Given the description of an element on the screen output the (x, y) to click on. 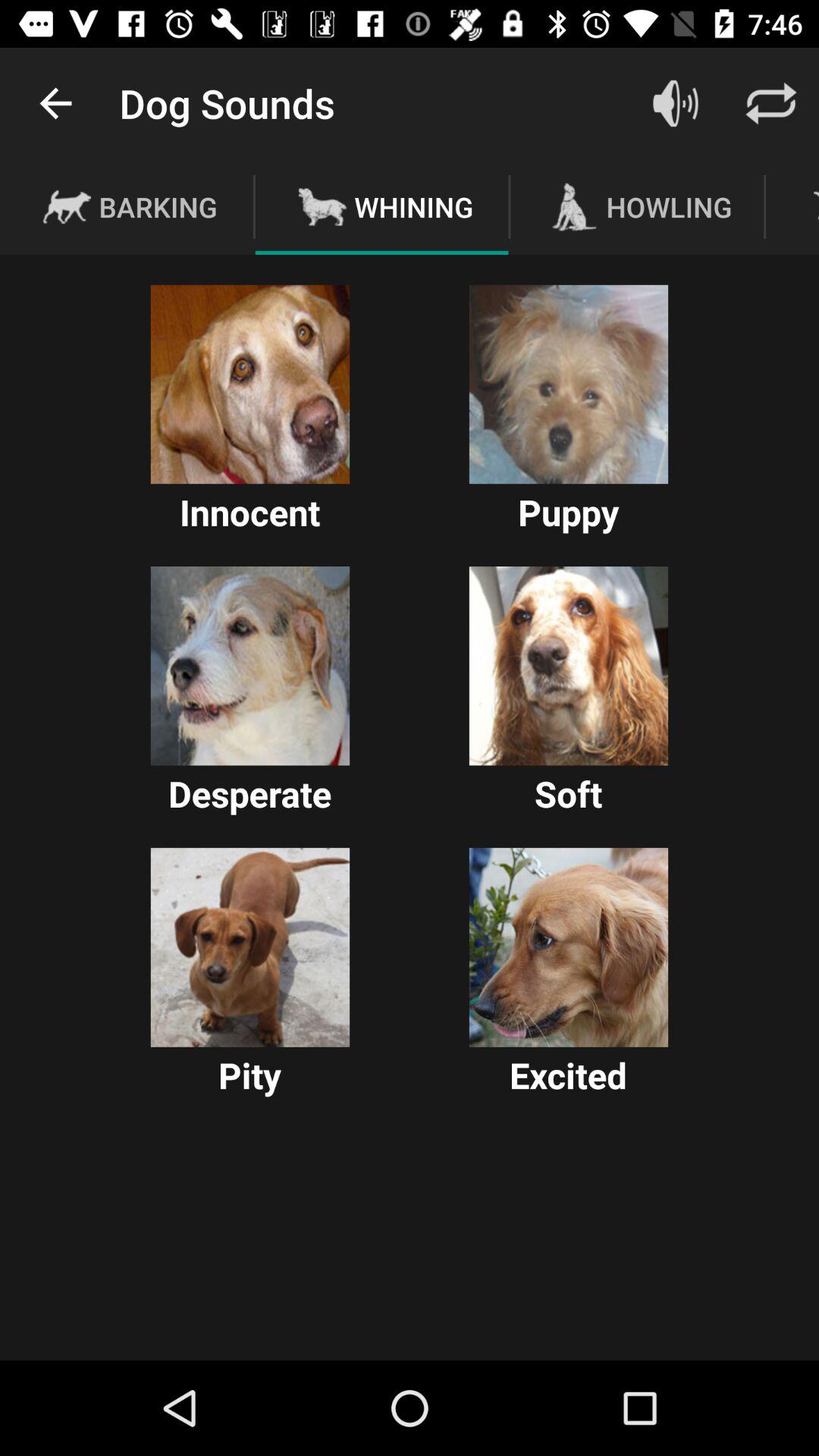
go to speeker (675, 103)
